Given the description of an element on the screen output the (x, y) to click on. 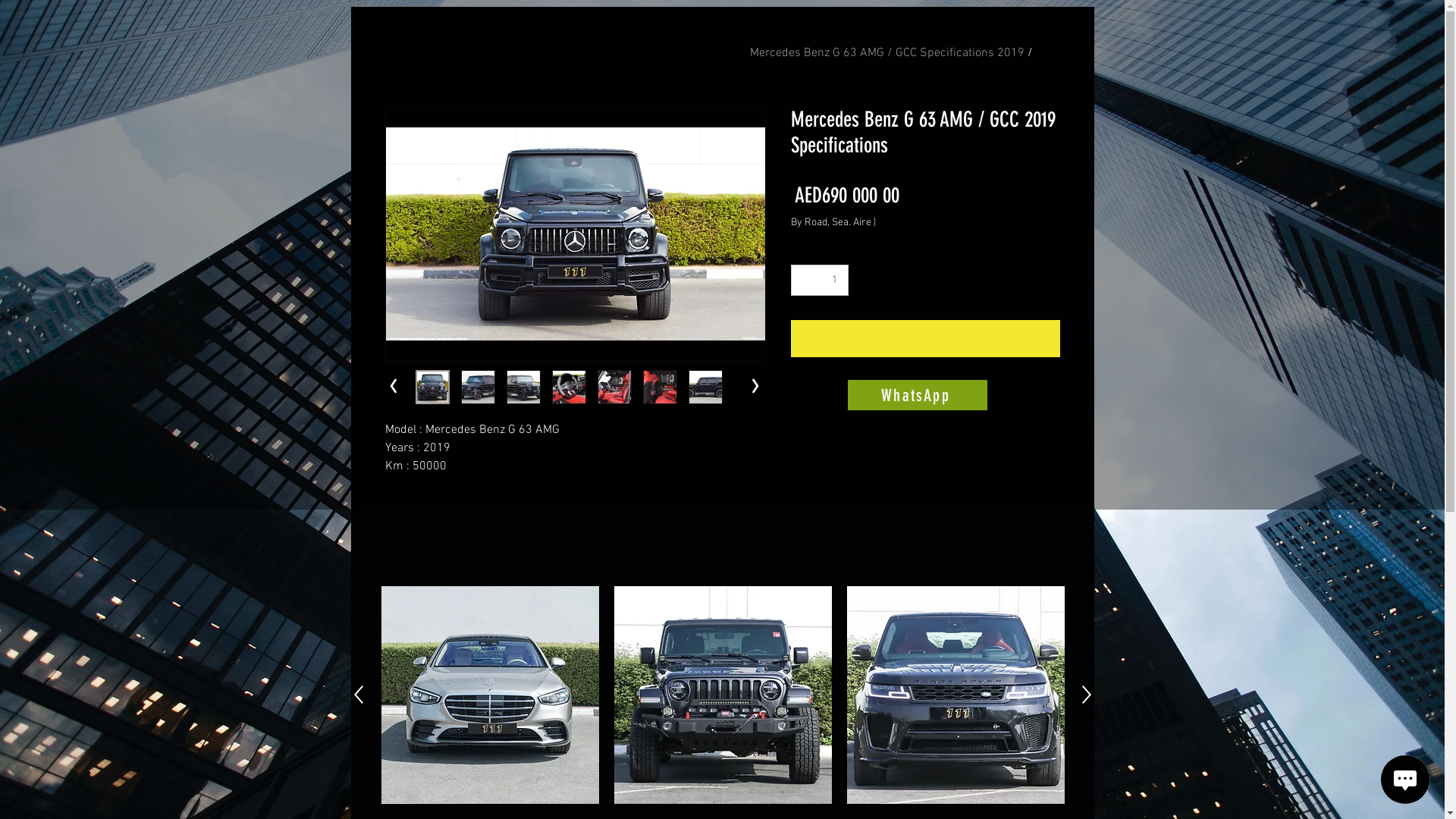
WhatsApp Element type: text (917, 394)
By Road, Sea. Aire Element type: text (830, 222)
2019 Mercedes Benz G 63 AMG / GCC Specifications Element type: text (886, 52)
Impressive Site Menu Element type: hover (37, 37)
